Given the description of an element on the screen output the (x, y) to click on. 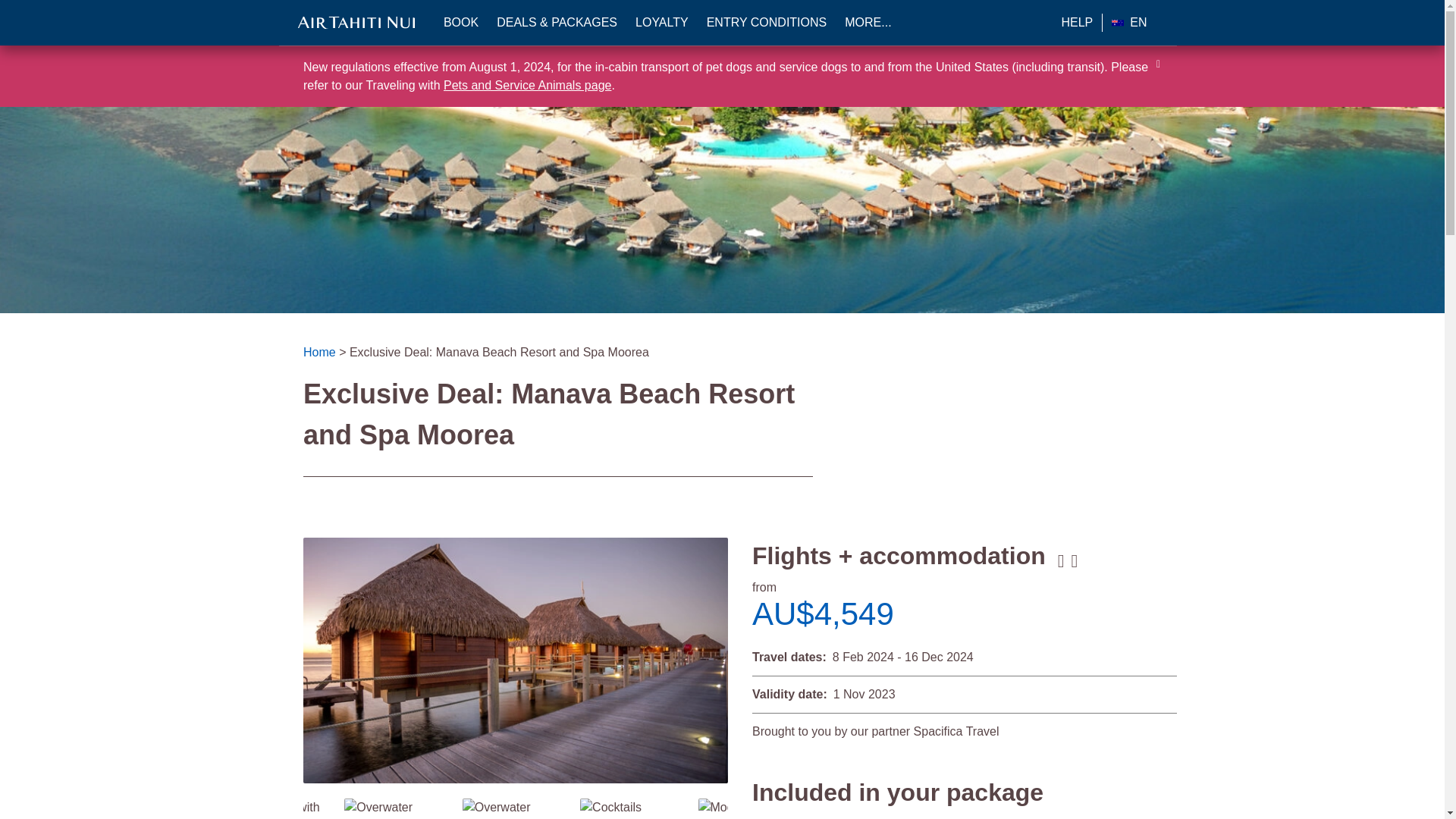
BOOK (461, 22)
Spacifica Travel Manava Beach Resort and Spa Moorea (610, 807)
ENTRY CONDITIONS (766, 22)
Spacifica Travel Manava Beach Resort and Spa Moorea (394, 808)
Spacifica Travel Manava Beach Resort and Spa Moorea (515, 659)
Spacifica Travel Manava Beach Resort and Spa Moorea (278, 808)
Sign in (406, 415)
MORE... (867, 22)
Spacifica Travel Manava Beach Resort and Spa Moorea (742, 807)
LOYALTY (661, 22)
Spacifica Travel Manava Beach Resort and Spa Moorea (513, 808)
